Given the description of an element on the screen output the (x, y) to click on. 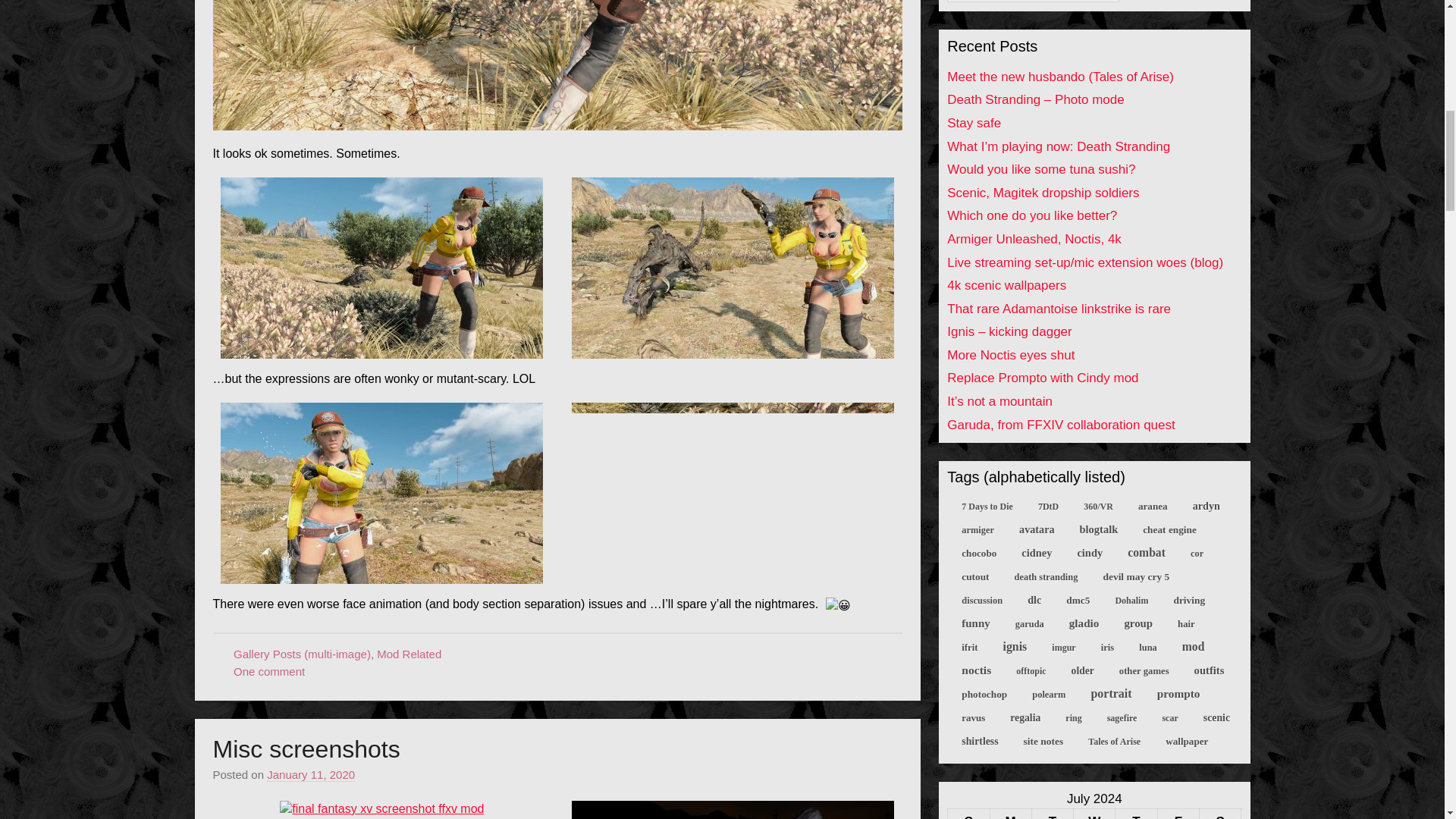
Monday (1010, 813)
Misc screenshots (305, 748)
Sunday (968, 813)
January 11, 2020 (310, 775)
Mod Related (409, 653)
Wednesday (1094, 813)
Tuesday (1051, 813)
Thursday (1136, 813)
One comment (268, 671)
